Given the description of an element on the screen output the (x, y) to click on. 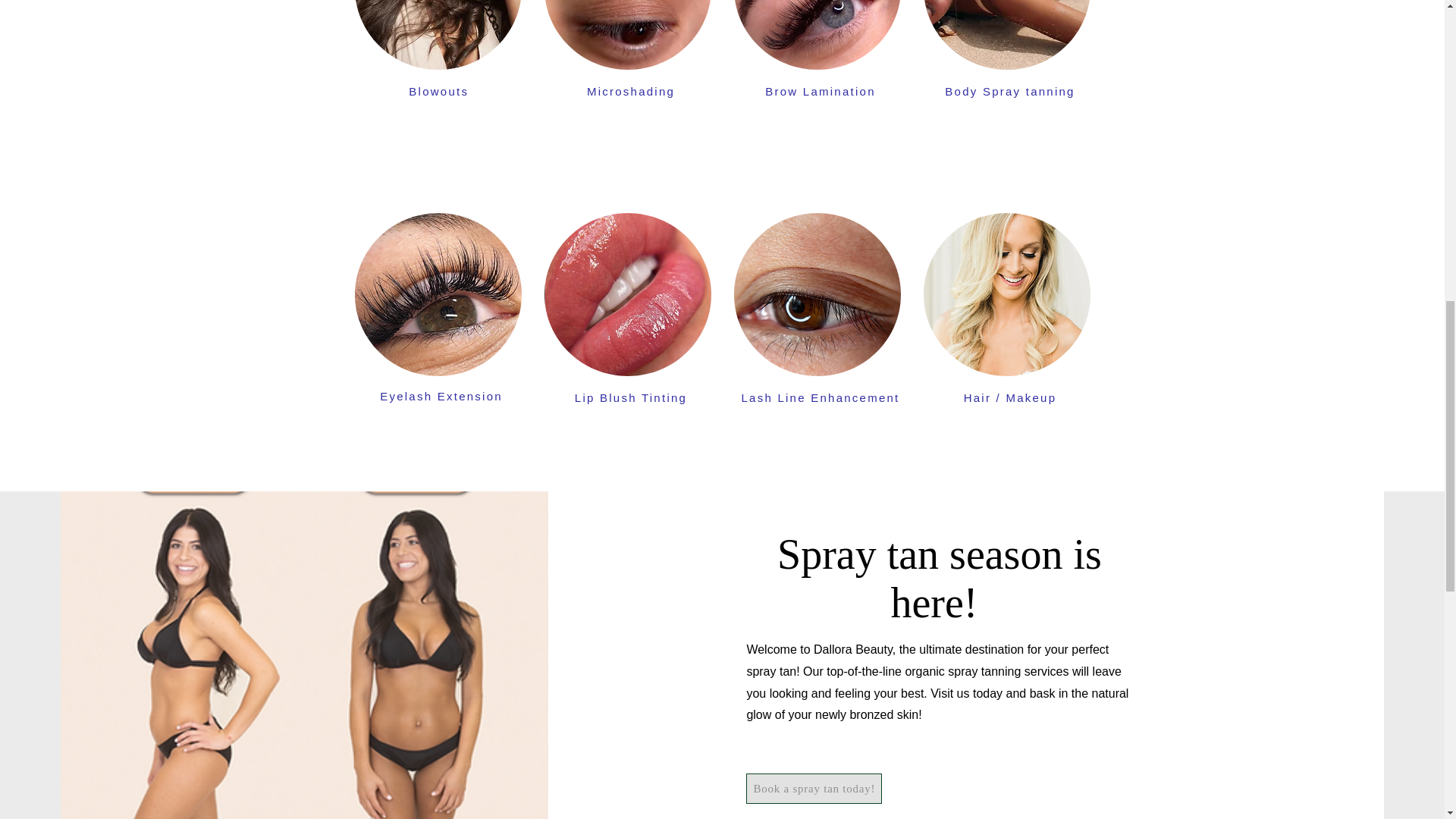
Book a spray tan today! (813, 788)
